Given the description of an element on the screen output the (x, y) to click on. 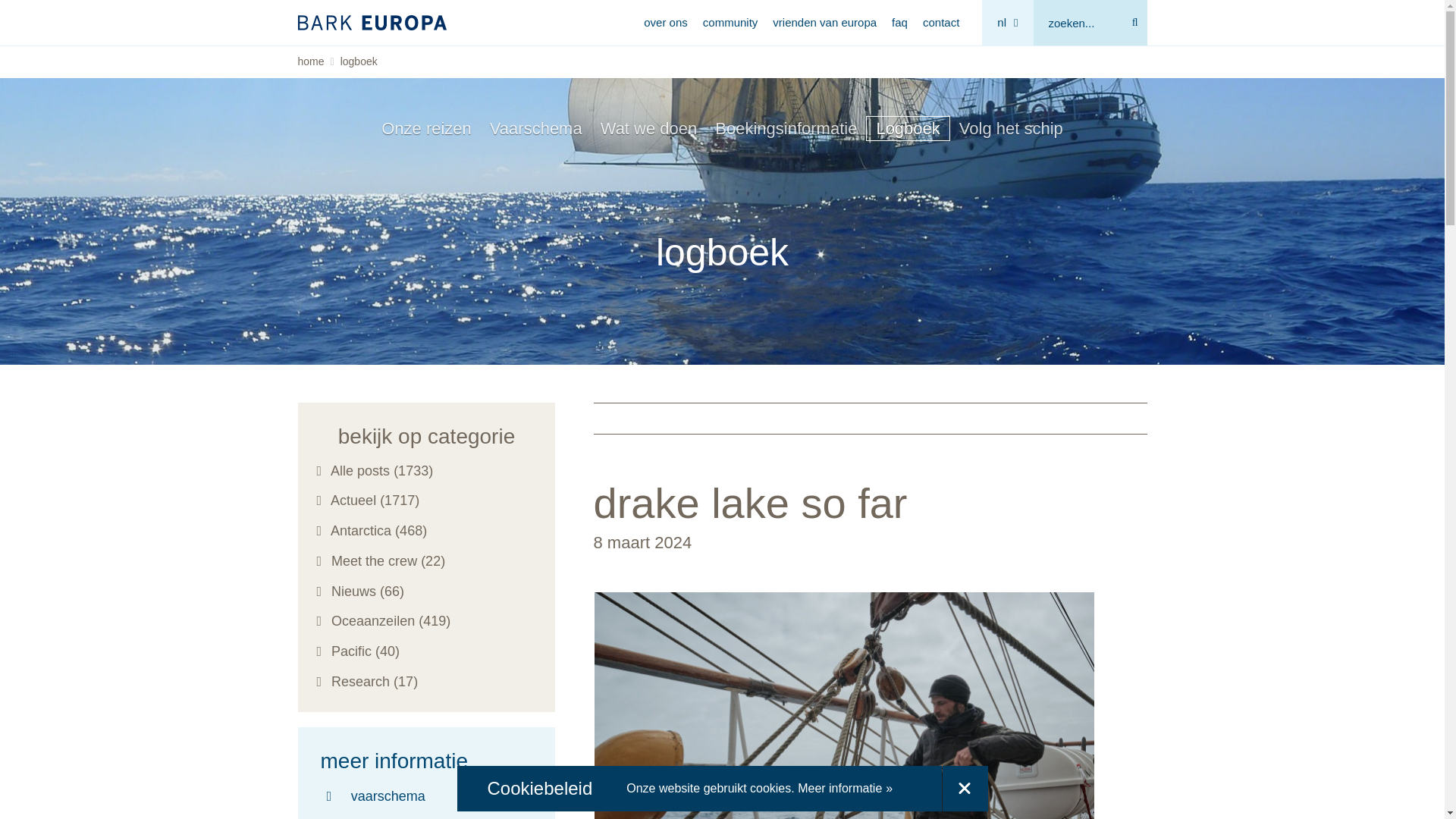
Wat we doen (648, 127)
Boekingsinformatie (786, 127)
Onze reizen (426, 127)
Volg het schip (1010, 127)
Logboek (907, 127)
Vaarschema (535, 127)
